Given the description of an element on the screen output the (x, y) to click on. 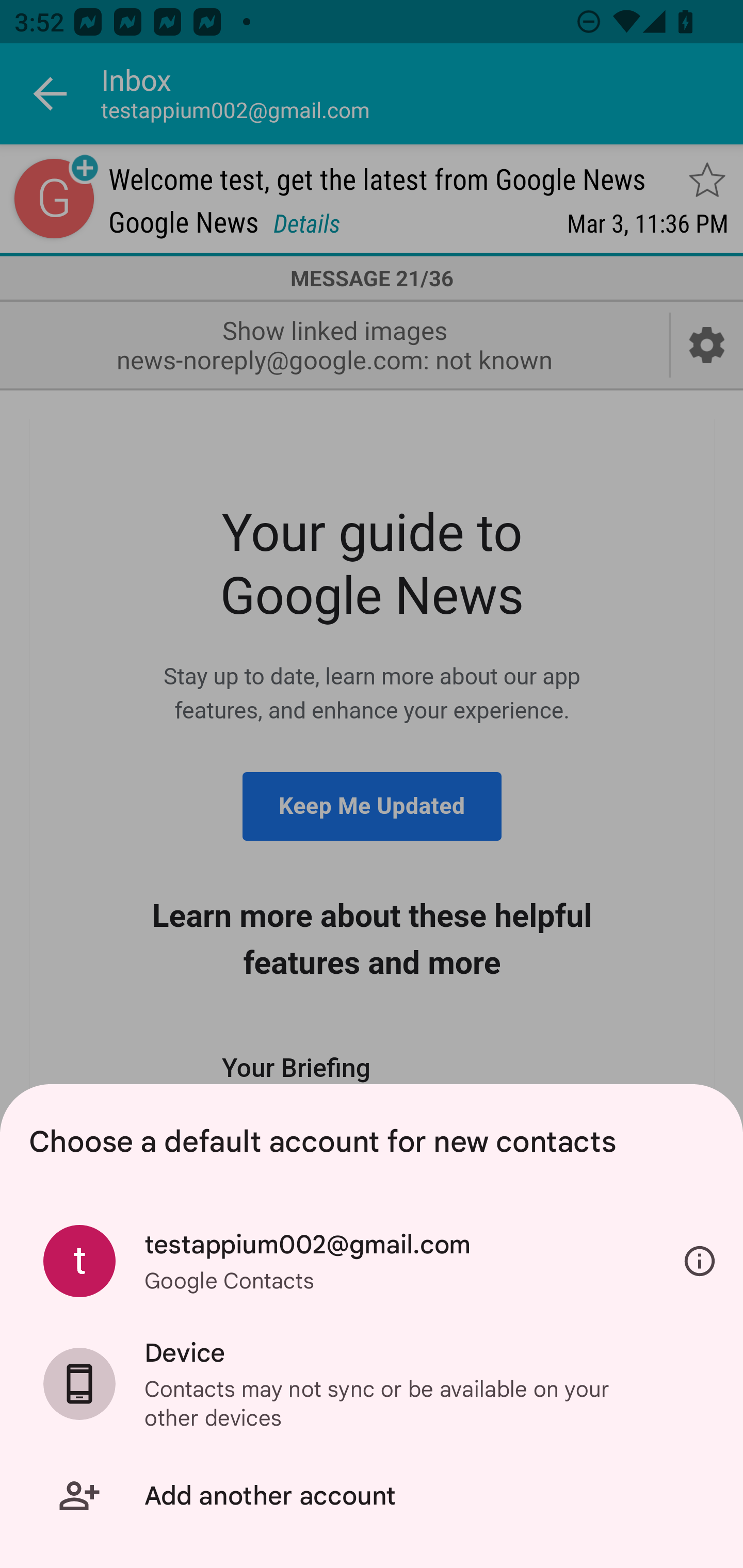
Information about account type (699, 1261)
Add another account (371, 1495)
